Given the description of an element on the screen output the (x, y) to click on. 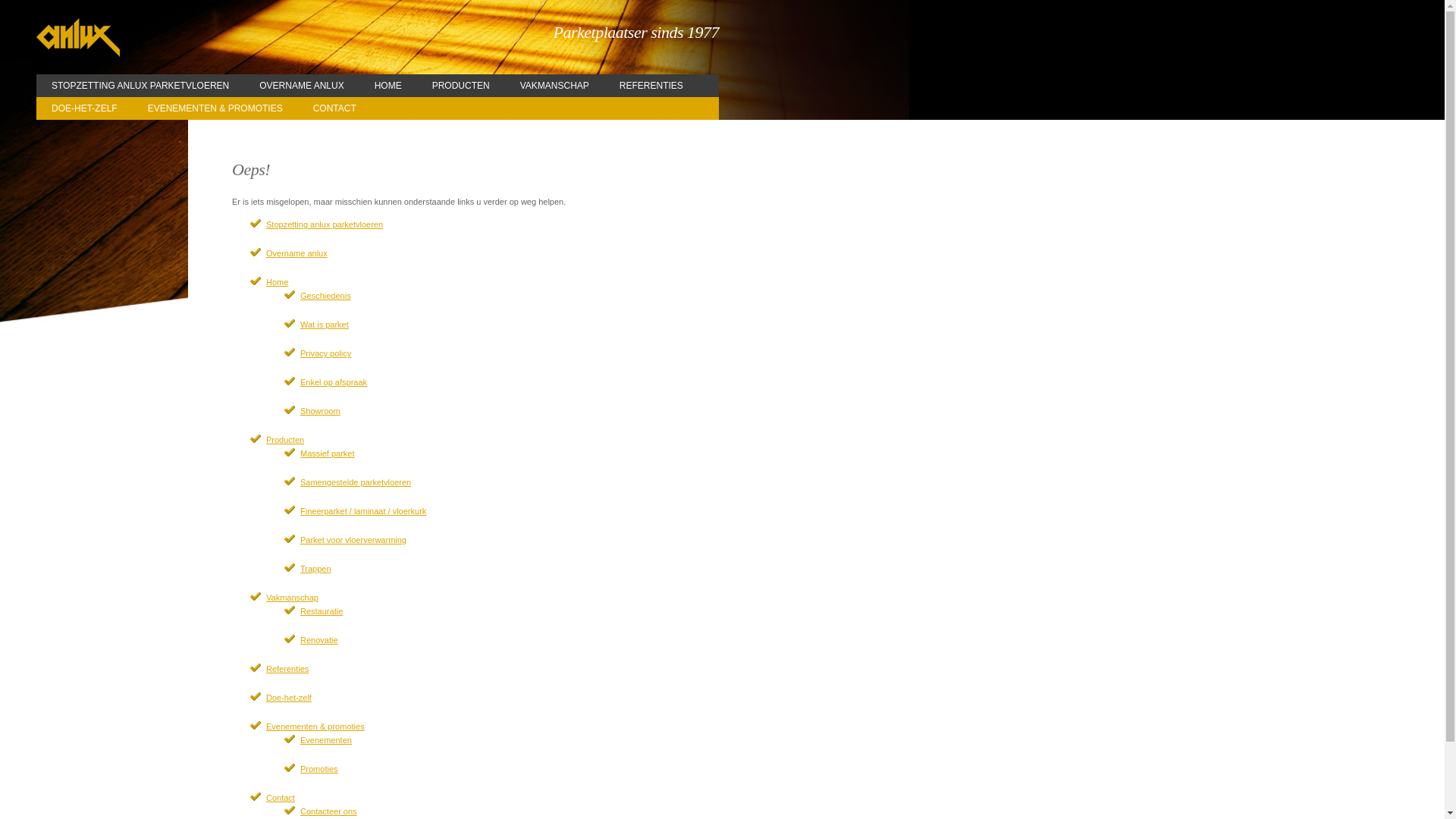
Overname anlux Element type: text (296, 252)
HOME Element type: text (388, 85)
REFERENTIES Element type: text (651, 85)
Trappen Element type: text (315, 568)
Producten Element type: text (285, 439)
STOPZETTING ANLUX PARKETVLOEREN Element type: text (140, 85)
Restauratie Element type: text (321, 610)
Parket voor vloerverwarming Element type: text (353, 539)
Massief parket Element type: text (327, 453)
Doe-het-zelf Element type: text (288, 697)
PRODUCTEN Element type: text (461, 85)
Referenties Element type: text (287, 668)
DOE-HET-ZELF Element type: text (84, 108)
Enkel op afspraak Element type: text (333, 381)
Renovatie Element type: text (319, 639)
CONTACT Element type: text (334, 108)
Fineerparket / laminaat / vloerkurk Element type: text (363, 510)
Promoties Element type: text (319, 768)
Evenementen & promoties Element type: text (315, 726)
EVENEMENTEN & PROMOTIES Element type: text (215, 108)
Samengestelde parketvloeren Element type: text (355, 481)
Stopzetting anlux parketvloeren Element type: text (324, 224)
Geschiedenis Element type: text (325, 295)
Privacy policy Element type: text (325, 352)
Showroom Element type: text (320, 410)
OVERNAME ANLUX Element type: text (301, 85)
Wat is parket Element type: text (324, 324)
Evenementen Element type: text (325, 739)
Anlux: Parketplaatser sinds 1977 Element type: text (77, 37)
VAKMANSCHAP Element type: text (554, 85)
Home Element type: text (277, 281)
Contacteer ons Element type: text (328, 810)
Contact Element type: text (280, 797)
Vakmanschap Element type: text (292, 597)
